Given the description of an element on the screen output the (x, y) to click on. 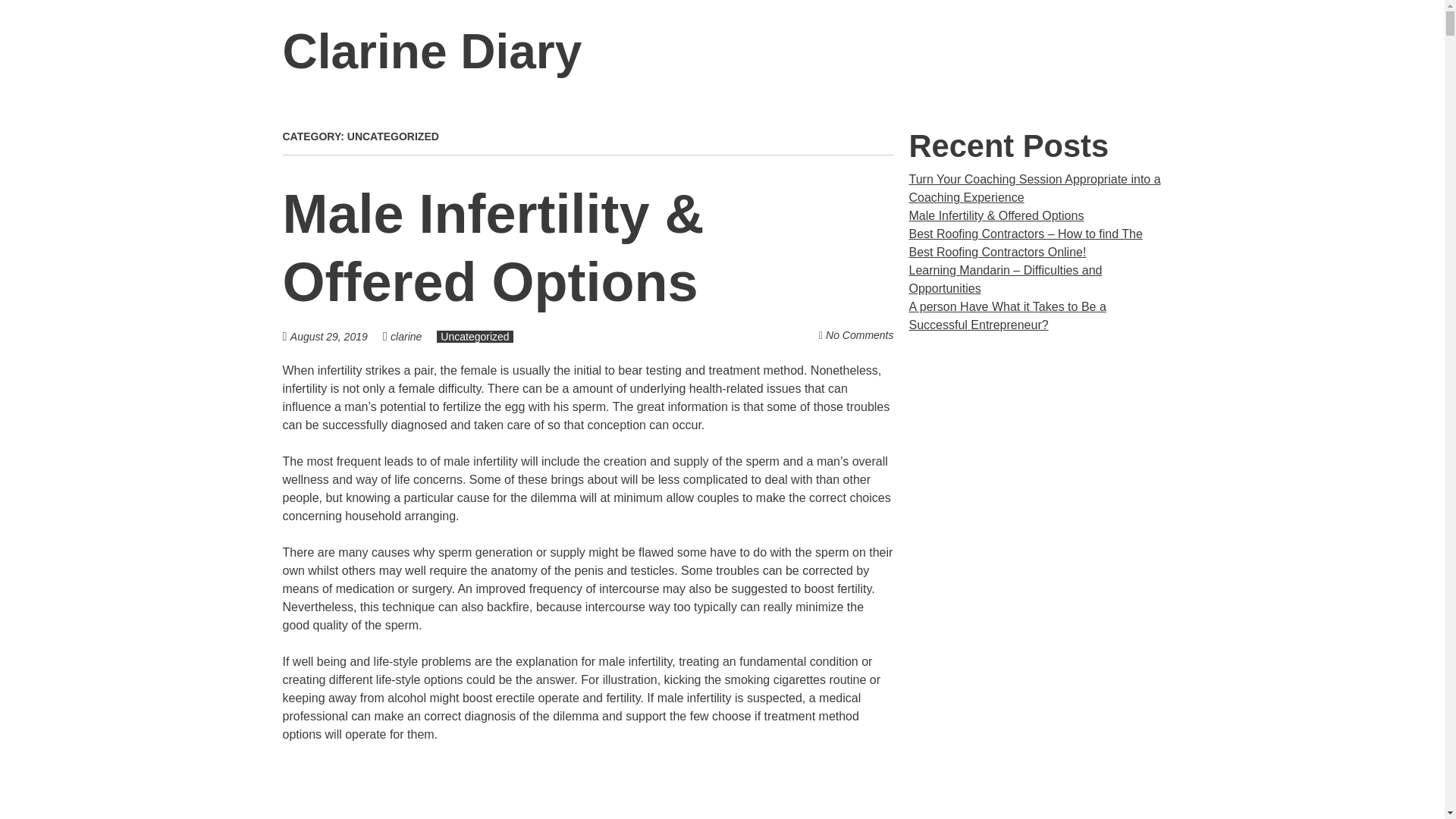
No Comments (859, 335)
Uncategorized (474, 336)
clarine (406, 336)
Skip to content (1181, 52)
Clarine Diary (431, 51)
August 29, 2019 (335, 336)
Skip to content (1181, 52)
